Given the description of an element on the screen output the (x, y) to click on. 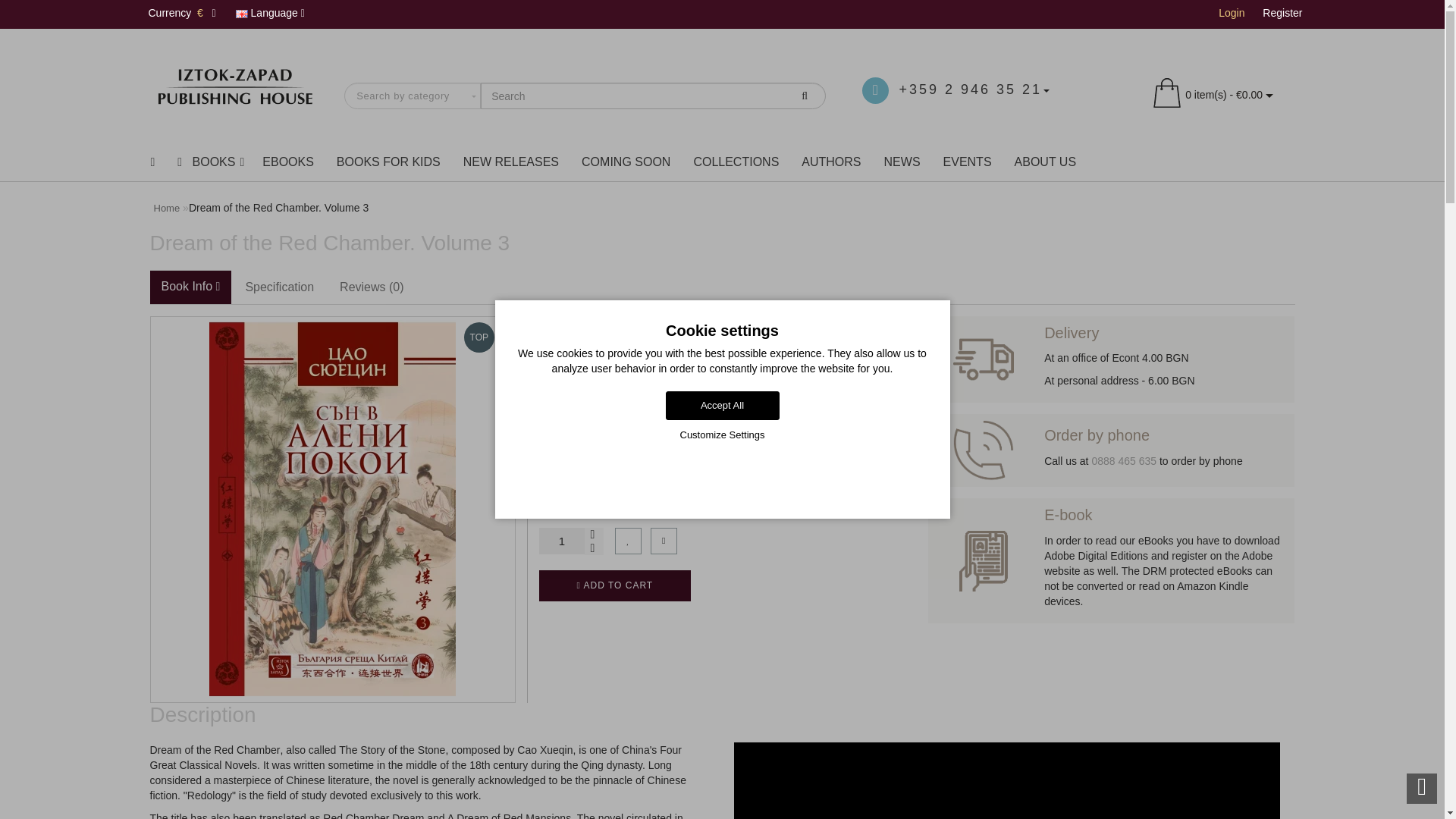
Cao Xueqin (859, 384)
Register (1281, 12)
Language (269, 13)
Login (1231, 12)
1 (561, 540)
English (241, 13)
   BOOKS (207, 161)
